Given the description of an element on the screen output the (x, y) to click on. 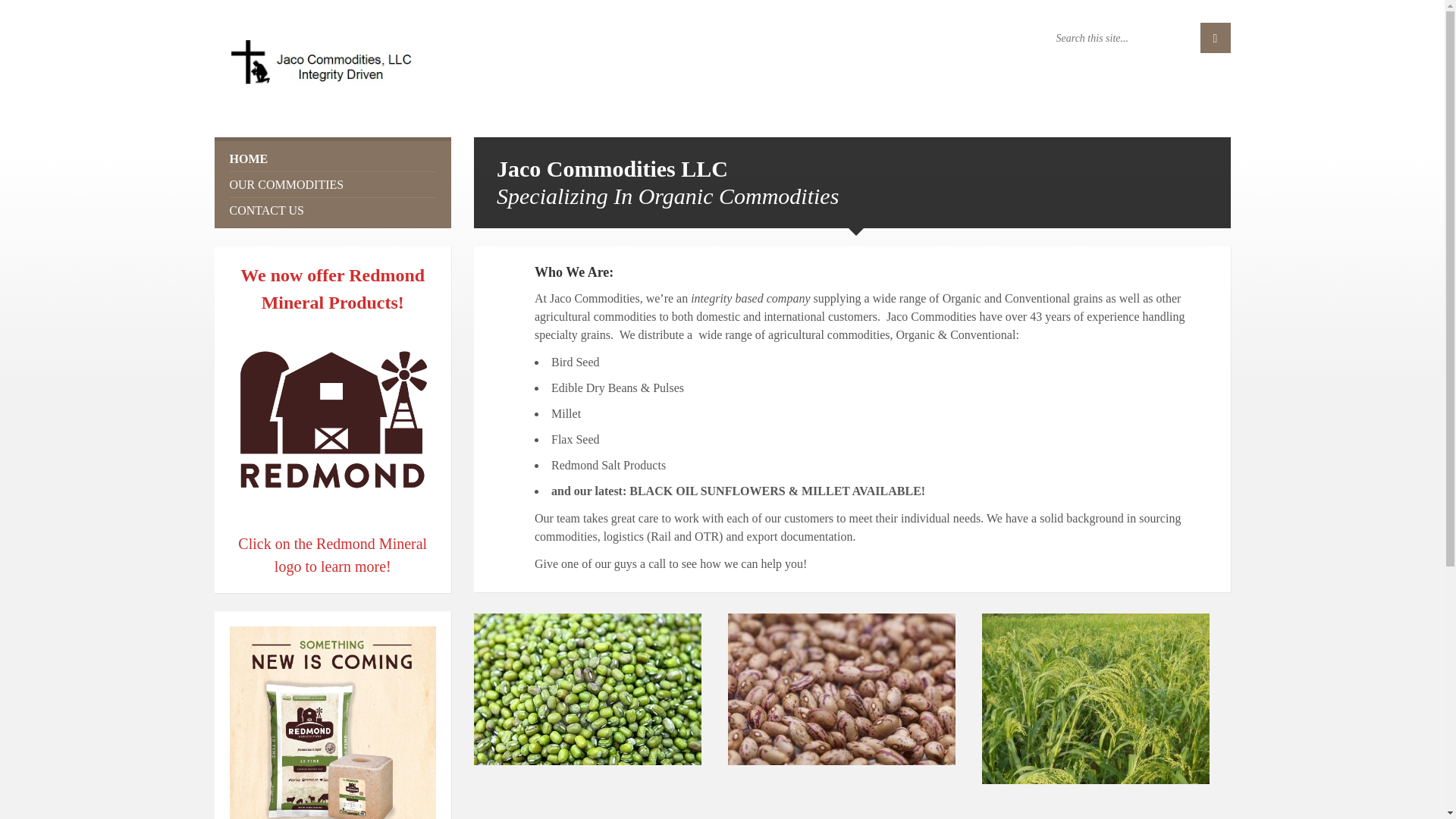
CONTACT US (331, 210)
OUR COMMODITIES (331, 184)
HOME (331, 158)
